Given the description of an element on the screen output the (x, y) to click on. 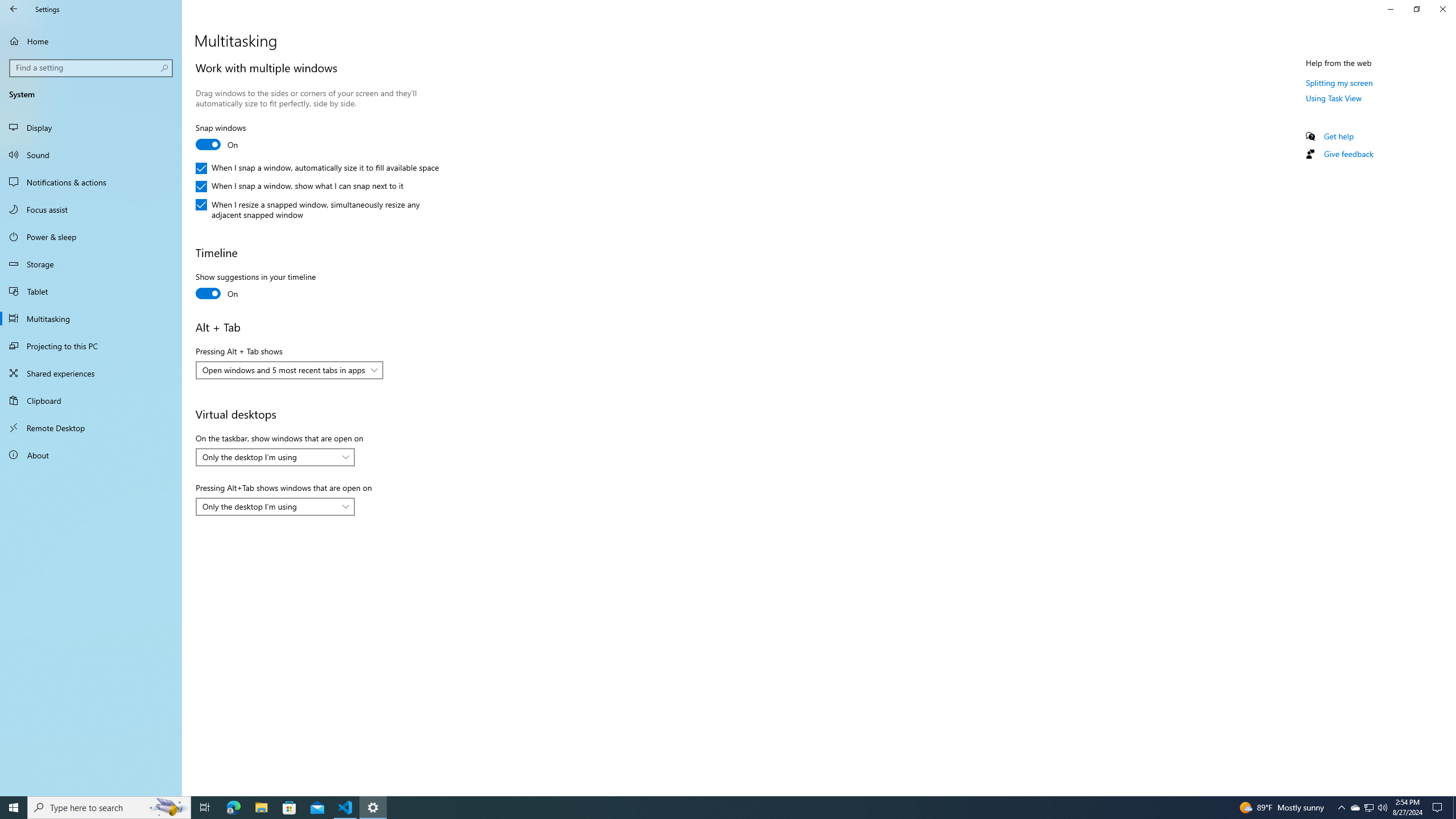
Power & sleep (91, 236)
Pressing Alt + Tab shows (288, 370)
When I snap a window, show what I can snap next to it (299, 186)
Sound (91, 154)
Remote Desktop (91, 427)
Focus assist (91, 208)
